Given the description of an element on the screen output the (x, y) to click on. 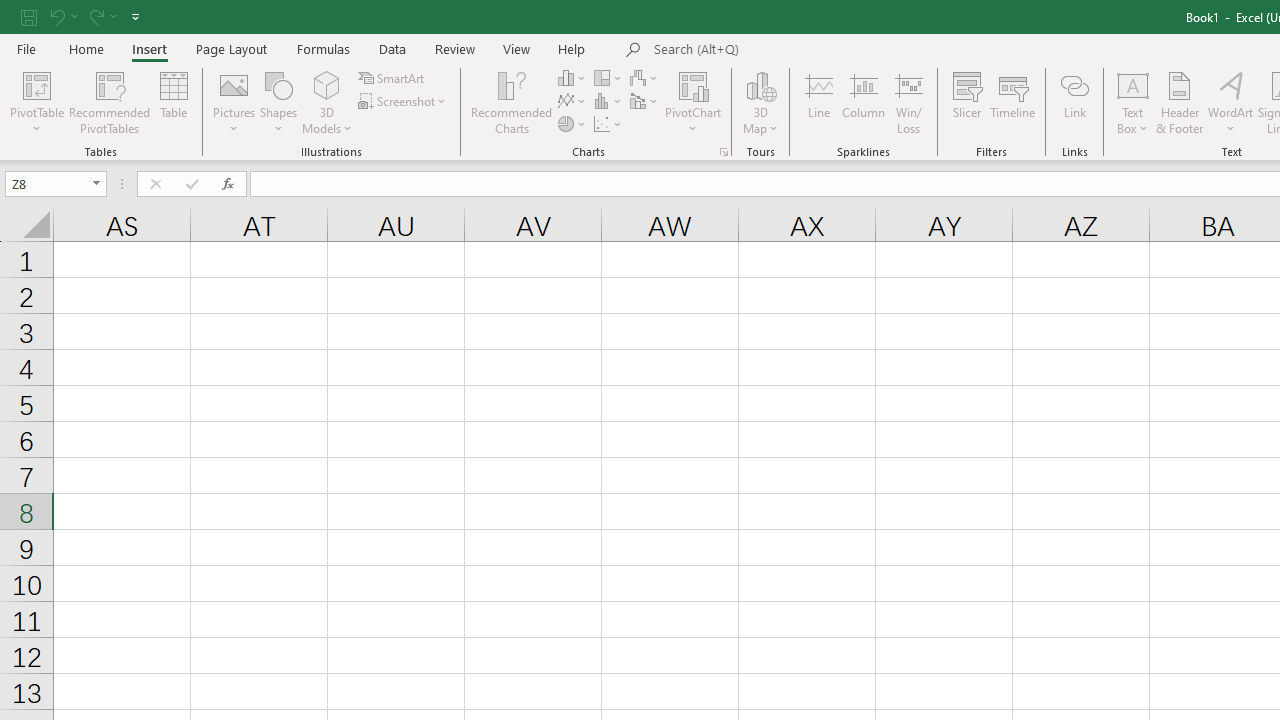
Insert Hierarchy Chart (609, 78)
Review (454, 48)
PivotTable (36, 102)
Microsoft search (792, 49)
Insert Column or Bar Chart (573, 78)
Header & Footer... (1179, 102)
Insert Waterfall, Funnel, Stock, Surface, or Radar Chart (645, 78)
File Tab (26, 48)
Insert Combo Chart (645, 101)
